Given the description of an element on the screen output the (x, y) to click on. 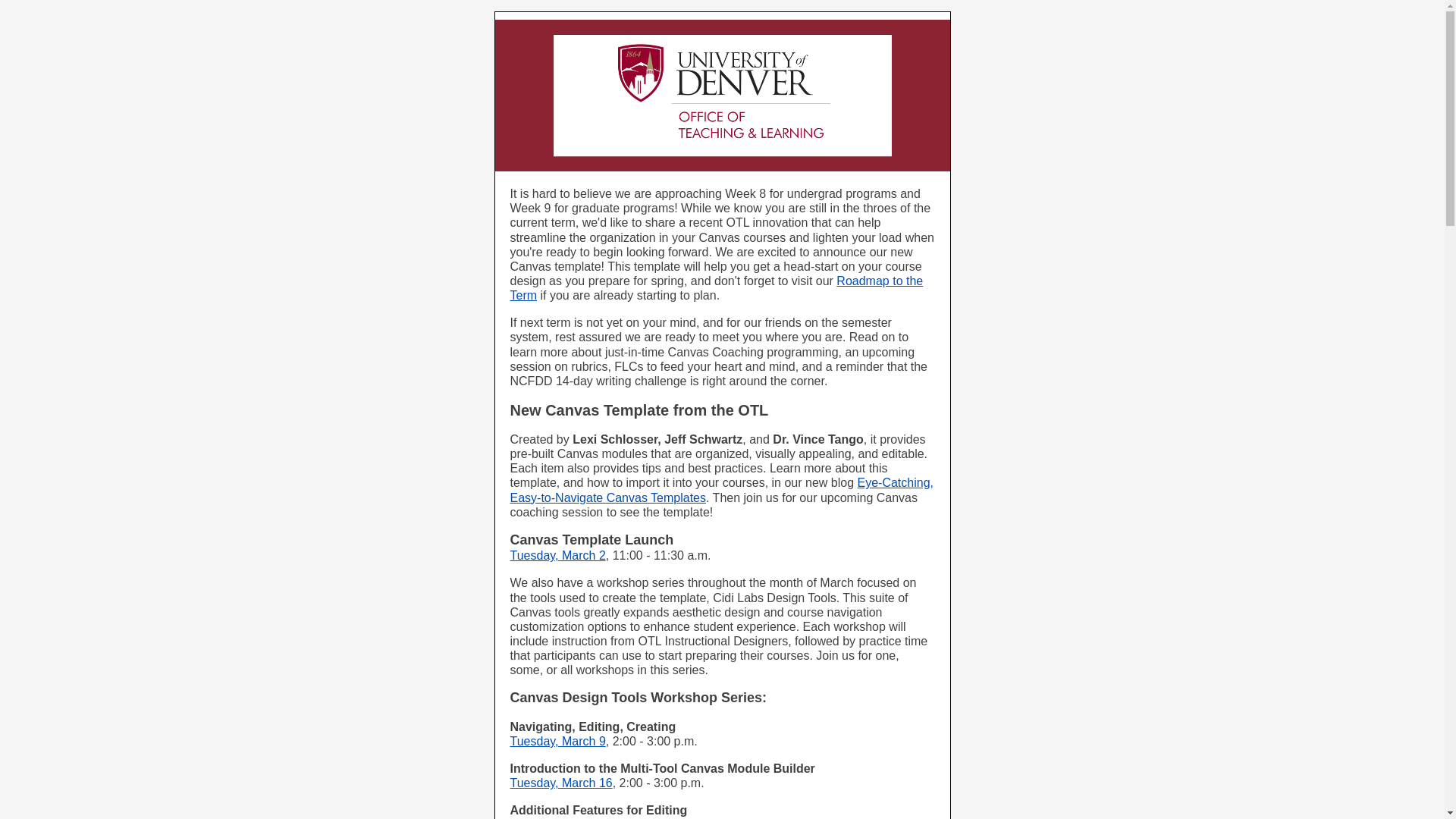
Eye-Catching, Easy-to-Navigate Canvas Templates (721, 489)
Roadmap to the Term (716, 288)
Tuesday, March 9 (557, 740)
Tuesday, March 2 (557, 554)
Tuesday, March 16 (560, 782)
